Given the description of an element on the screen output the (x, y) to click on. 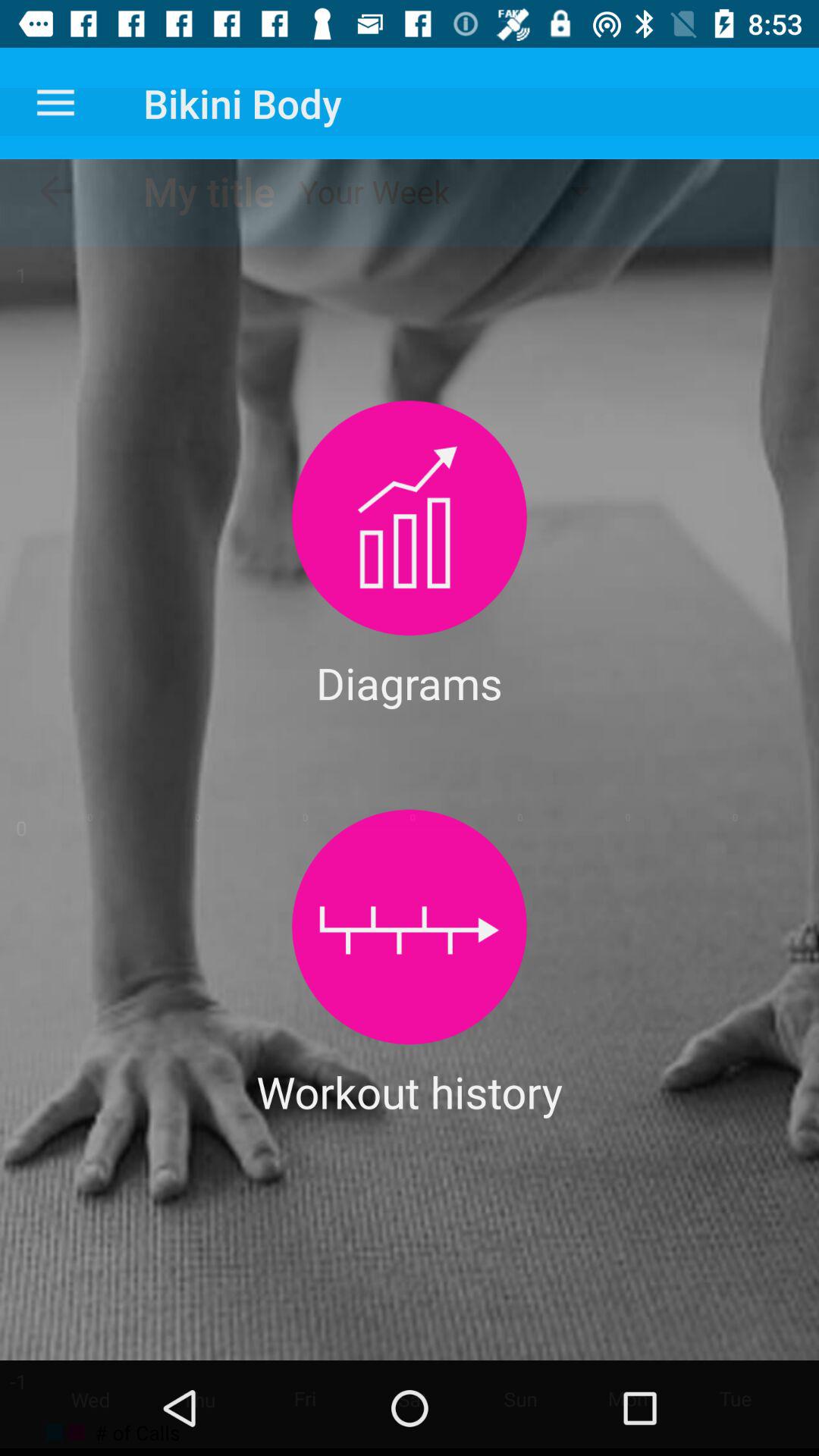
go to workout history (409, 926)
